Given the description of an element on the screen output the (x, y) to click on. 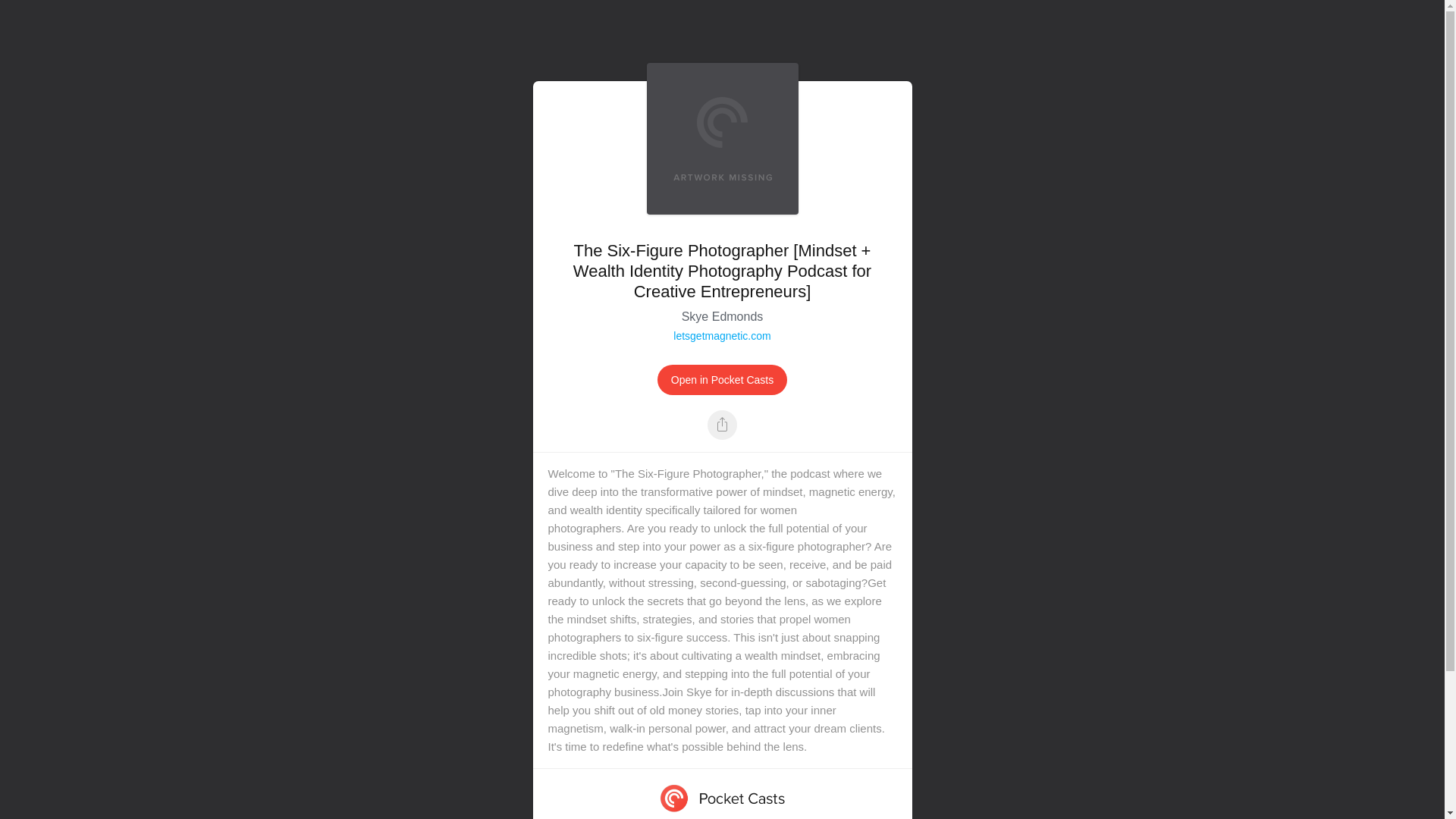
Open in Pocket Casts (722, 379)
letsgetmagnetic.com (721, 336)
